Given the description of an element on the screen output the (x, y) to click on. 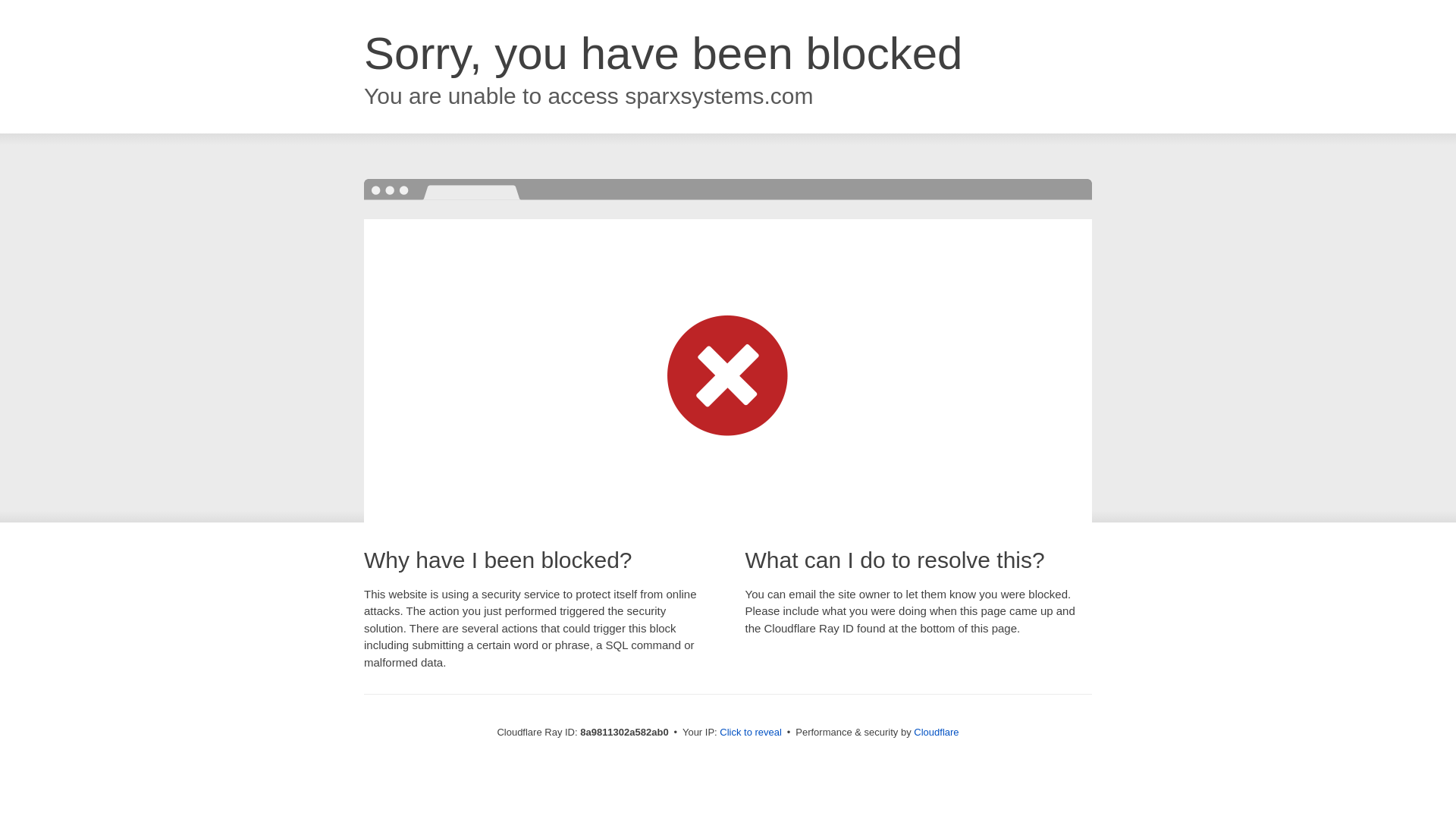
Cloudflare (936, 731)
Click to reveal (750, 732)
